Given the description of an element on the screen output the (x, y) to click on. 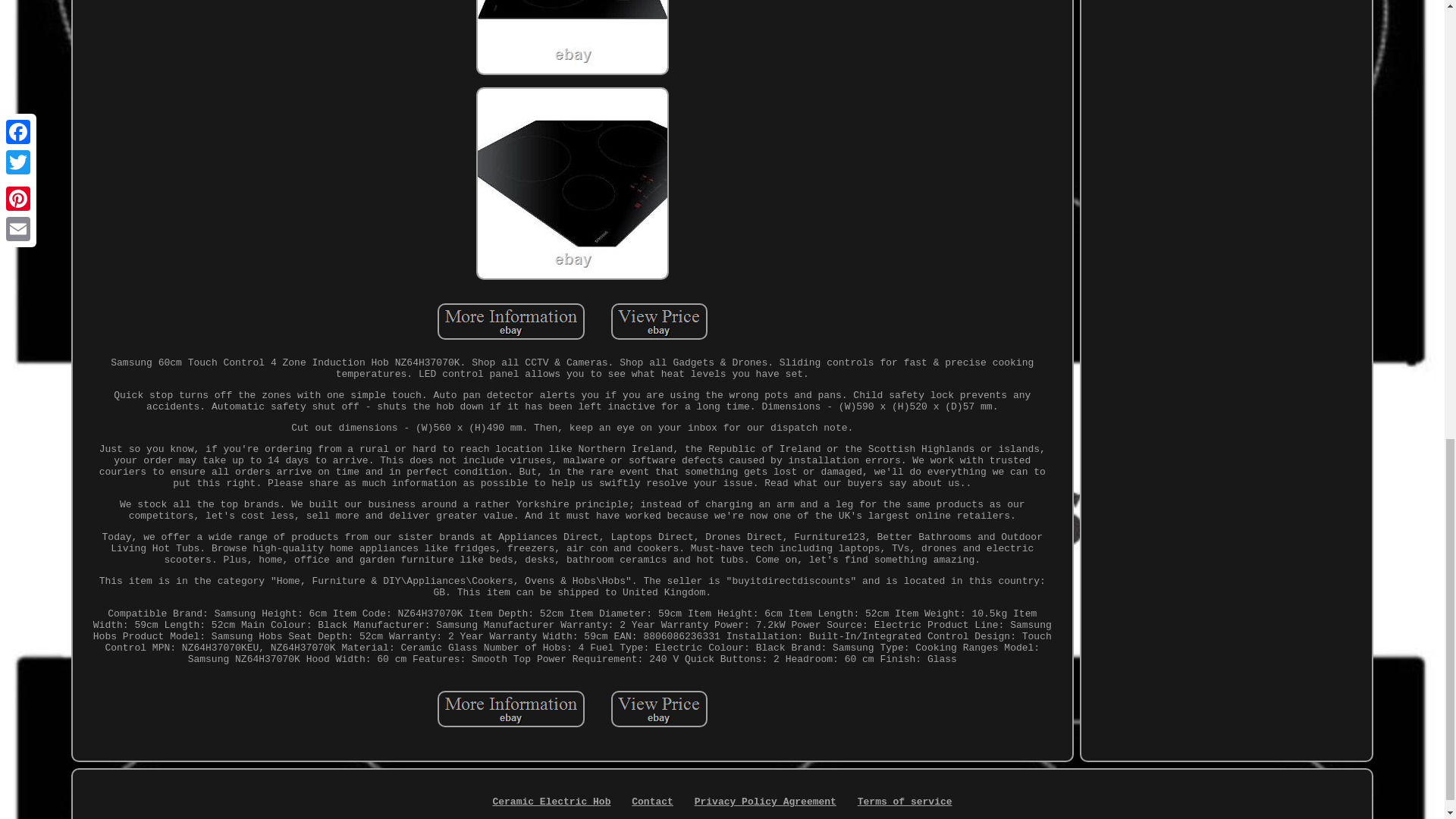
Samsung 60cm Touch Control 4 Zone Induction Hob NZ64H37070K (659, 321)
Samsung 60cm Touch Control 4 Zone Induction Hob NZ64H37070K (659, 709)
Samsung 60cm Touch Control 4 Zone Induction Hob NZ64H37070K (511, 709)
Samsung 60cm Touch Control 4 Zone Induction Hob NZ64H37070K (511, 321)
Samsung 60cm Touch Control 4 Zone Induction Hob NZ64H37070K (572, 37)
Samsung 60cm Touch Control 4 Zone Induction Hob NZ64H37070K (572, 183)
